Given the description of an element on the screen output the (x, y) to click on. 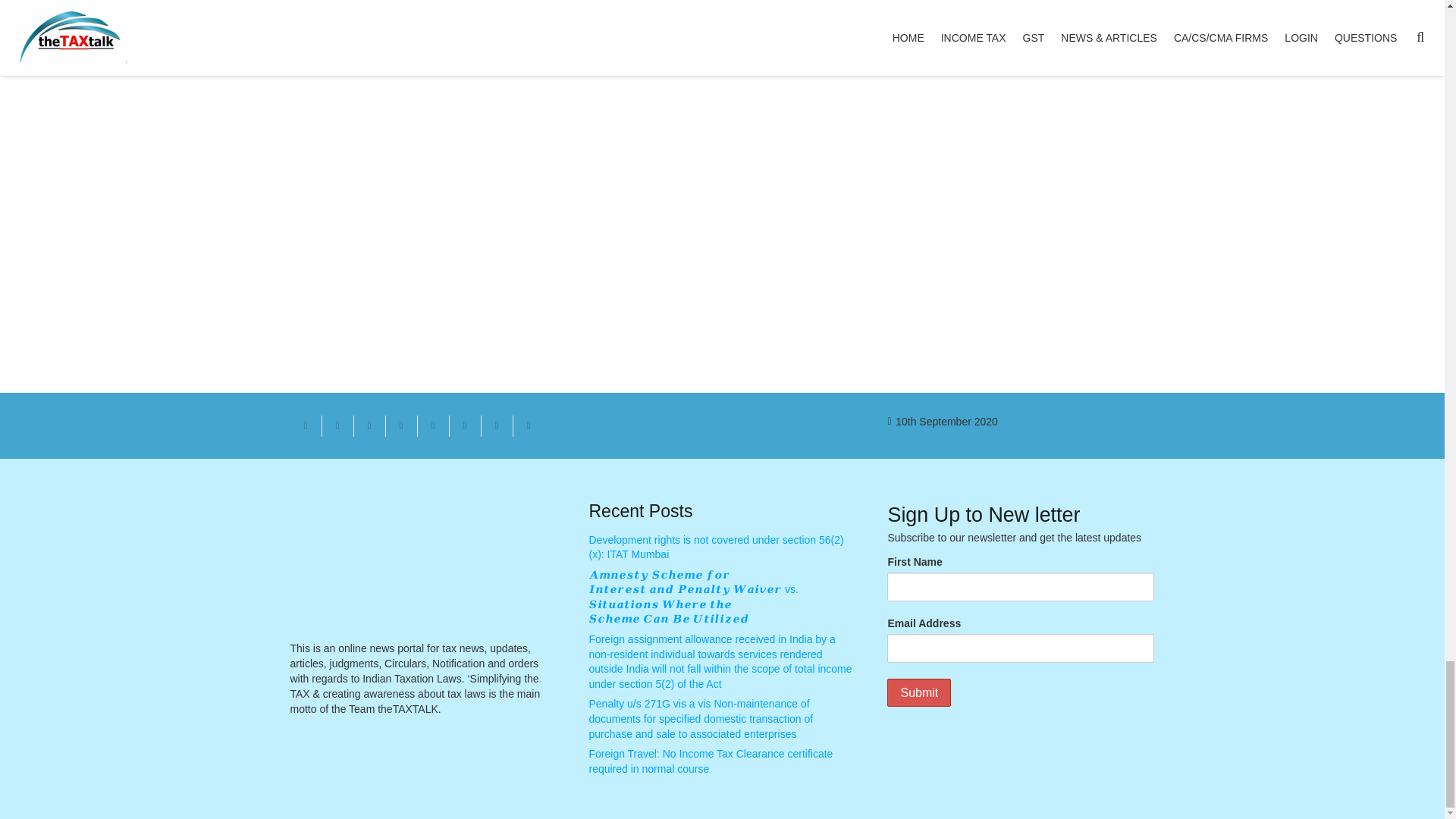
Email this (305, 425)
Share this (400, 425)
Share this (337, 425)
Submit (918, 692)
Tweet this (369, 425)
Share this (464, 425)
Share this (496, 425)
Pin this (432, 425)
Share this (528, 425)
